Given the description of an element on the screen output the (x, y) to click on. 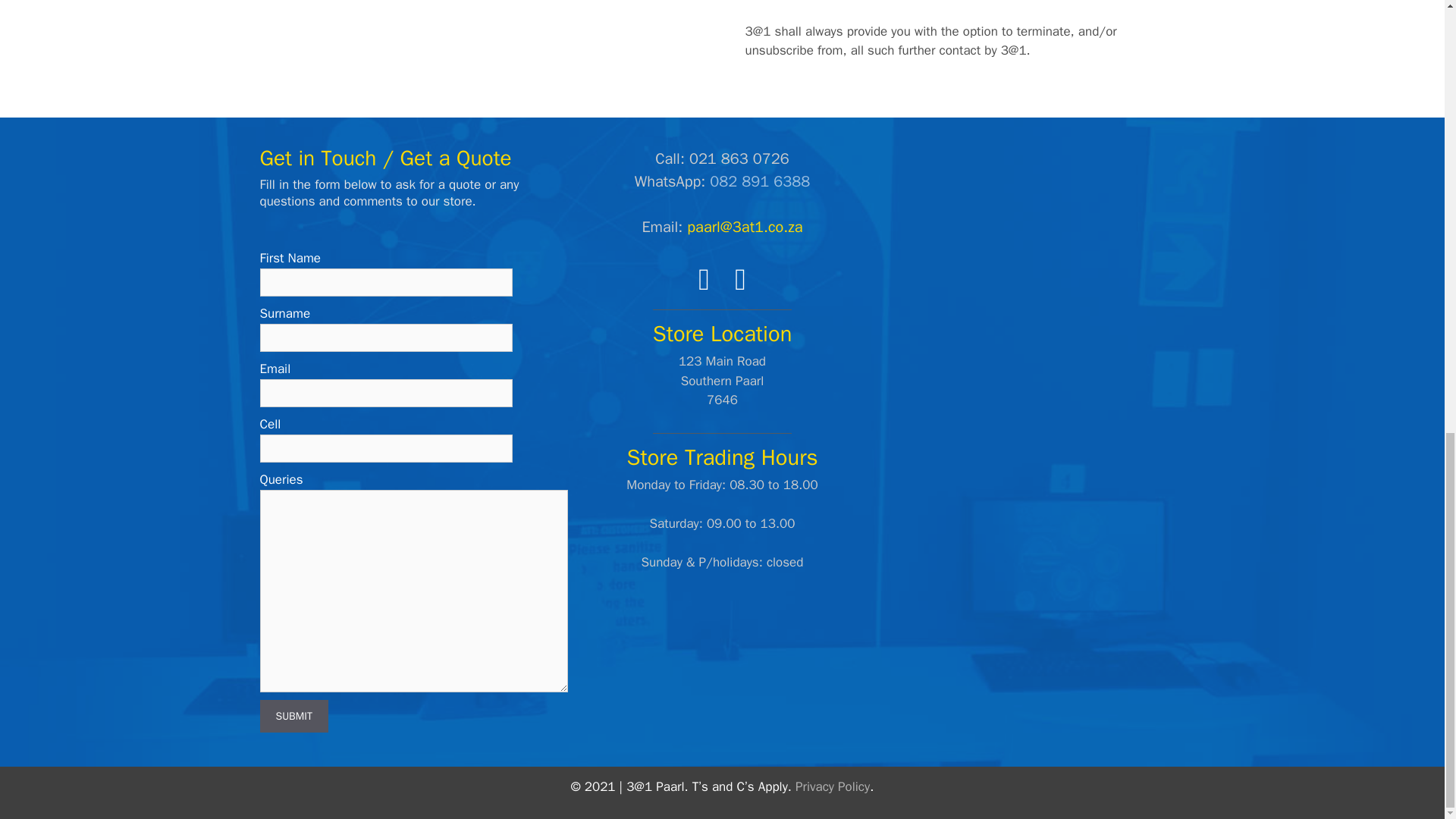
Submit (293, 716)
082 891 6388 (759, 180)
Submit (293, 716)
3at1 Paarl (1030, 261)
